Given the description of an element on the screen output the (x, y) to click on. 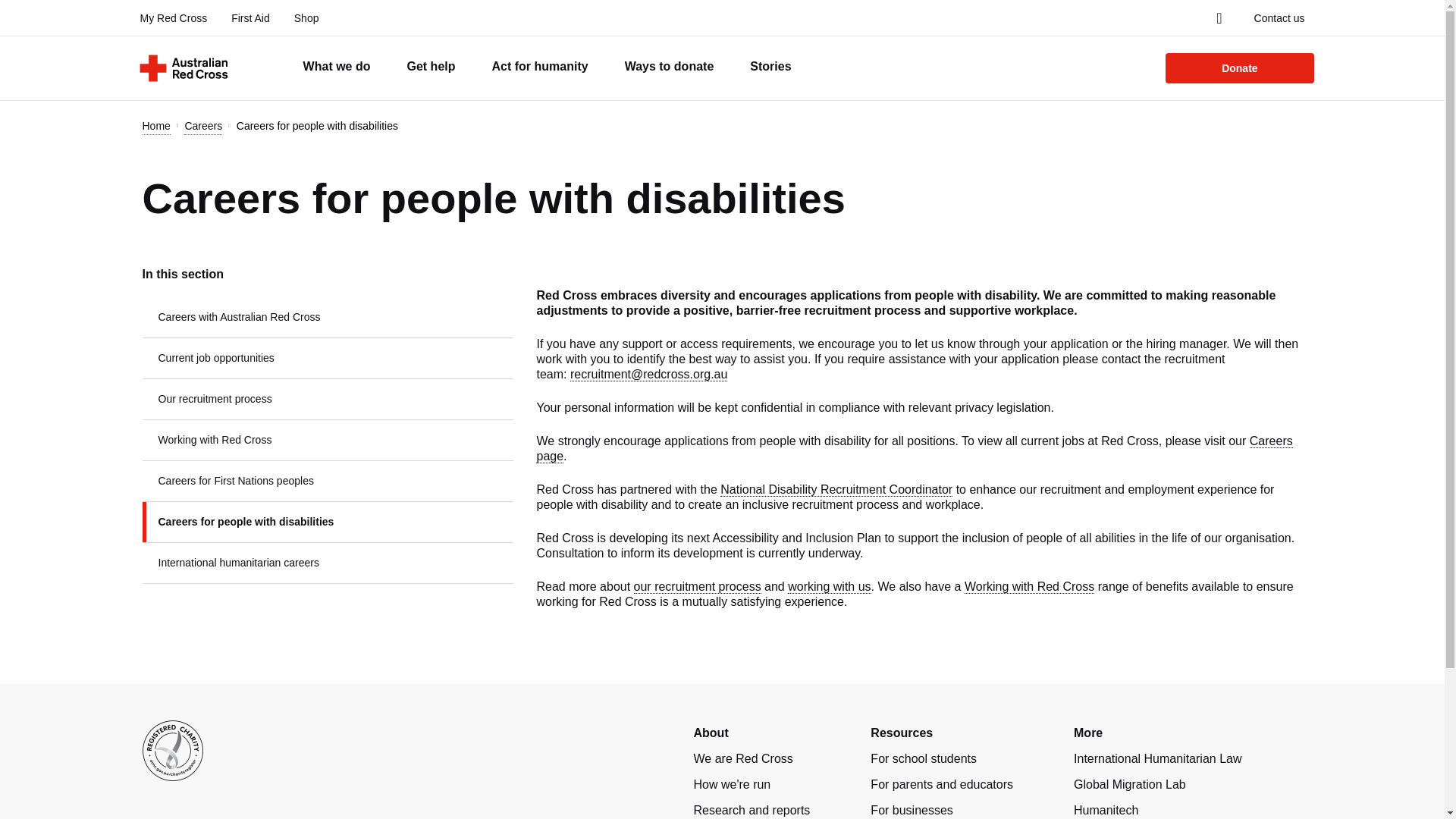
Act for humanity (540, 67)
We are Red Cross (742, 758)
What we do (336, 67)
International Humanitarian Law (1157, 758)
First Aid (250, 18)
My Red Cross (173, 18)
Research and reports (751, 809)
Shop (307, 18)
Ways to donate (669, 67)
For school students (923, 758)
For parents and educators (941, 784)
About (710, 732)
More (1088, 732)
Contact us (1279, 18)
How we're run (731, 784)
